Given the description of an element on the screen output the (x, y) to click on. 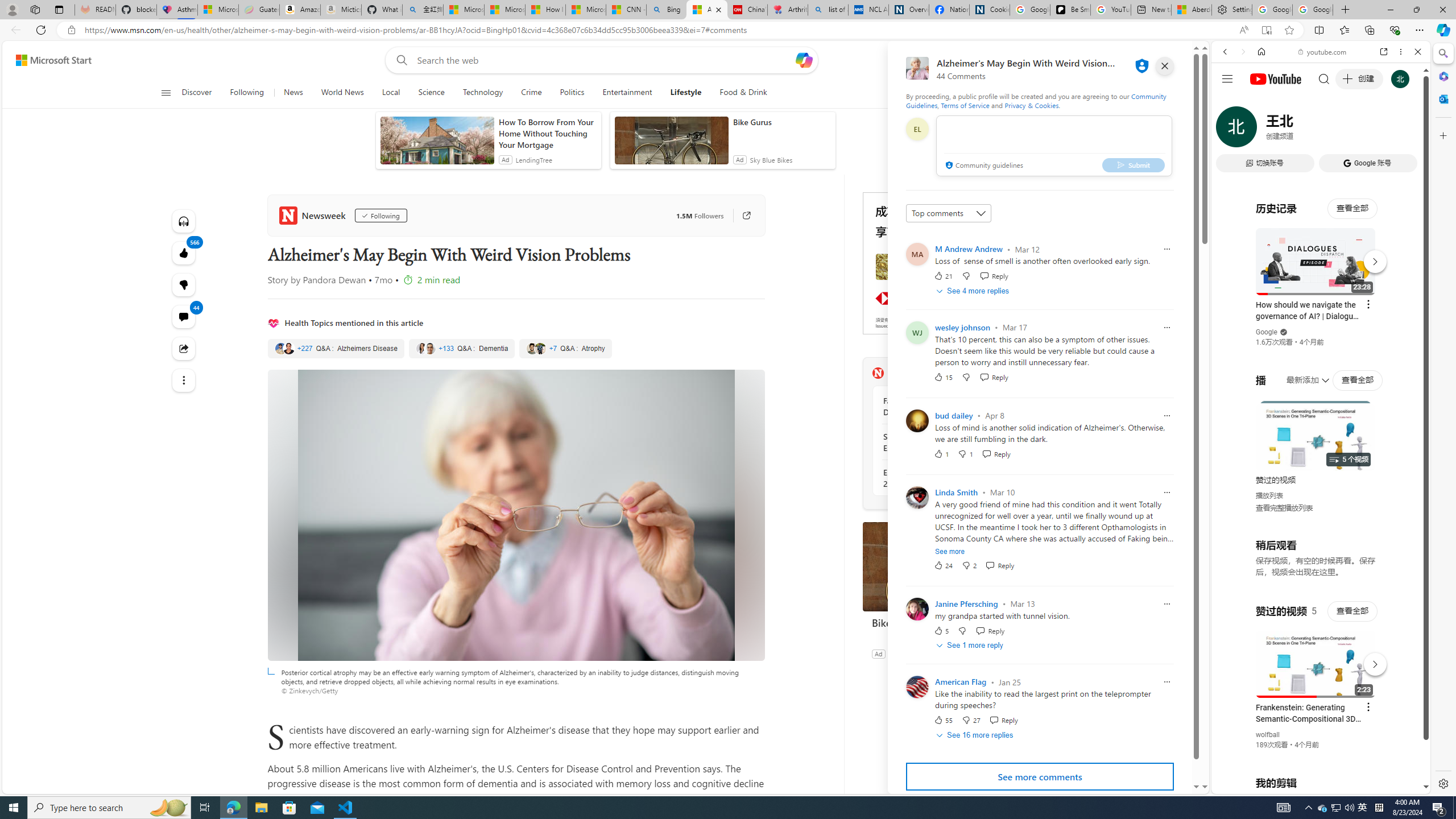
More options (1401, 51)
Crime (531, 92)
Minimize (1390, 9)
Settings (1442, 783)
Class: quote-thumbnail (540, 348)
Profile Picture (916, 686)
Browser essentials (1394, 29)
Open Copilot (803, 59)
Local (390, 92)
Bike Gurus (947, 566)
See 16 more replies (976, 735)
